Given the description of an element on the screen output the (x, y) to click on. 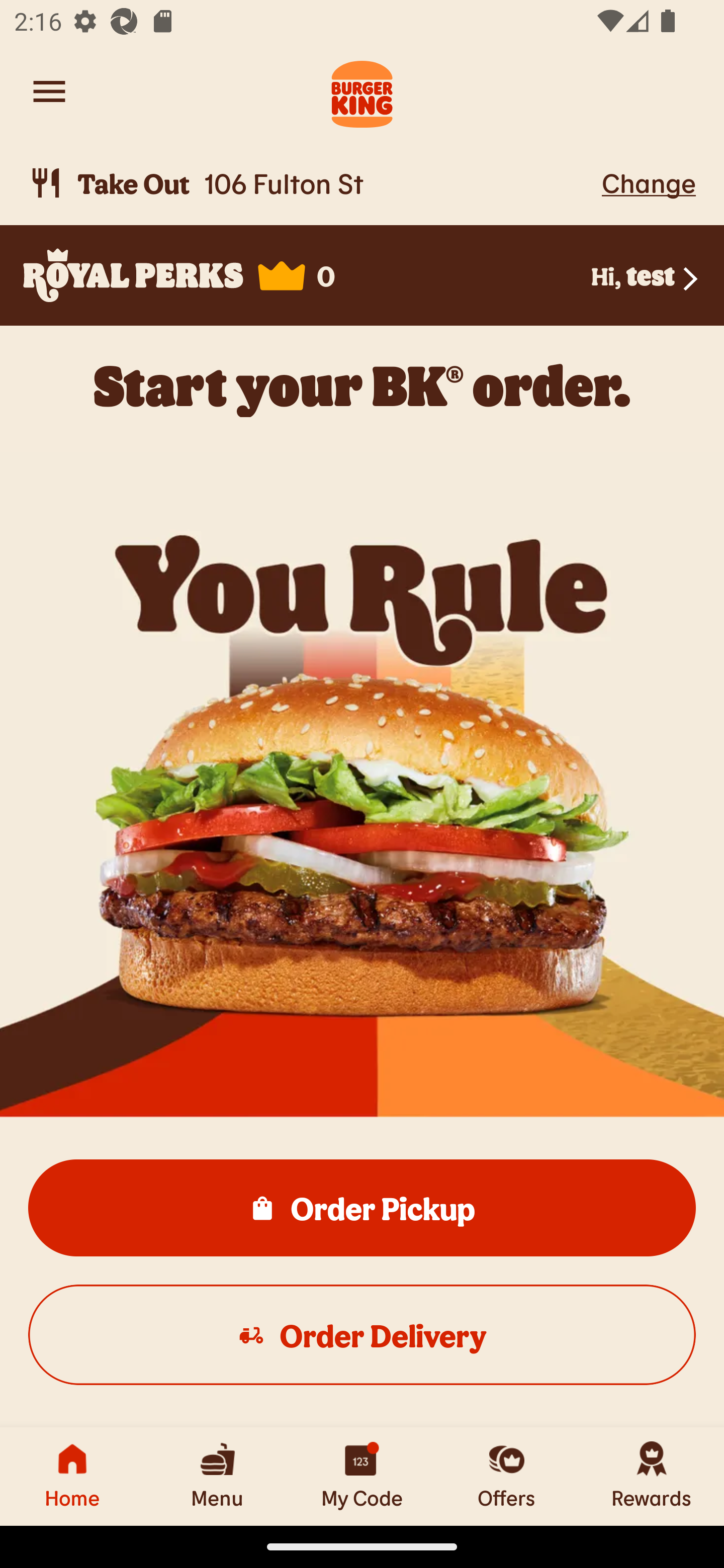
Burger King Logo. Navigate to Home (362, 91)
Navigate to account menu  (49, 91)
Take Out, 106 Fulton St  Take Out 106 Fulton St (311, 183)
Change (648, 182)
Start your BK® order. (361, 385)
, Order Pickup  Order Pickup (361, 1206)
, Order Delivery  Order Delivery (361, 1334)
Home (72, 1475)
Menu (216, 1475)
My Code (361, 1475)
Offers (506, 1475)
Rewards (651, 1475)
